Given the description of an element on the screen output the (x, y) to click on. 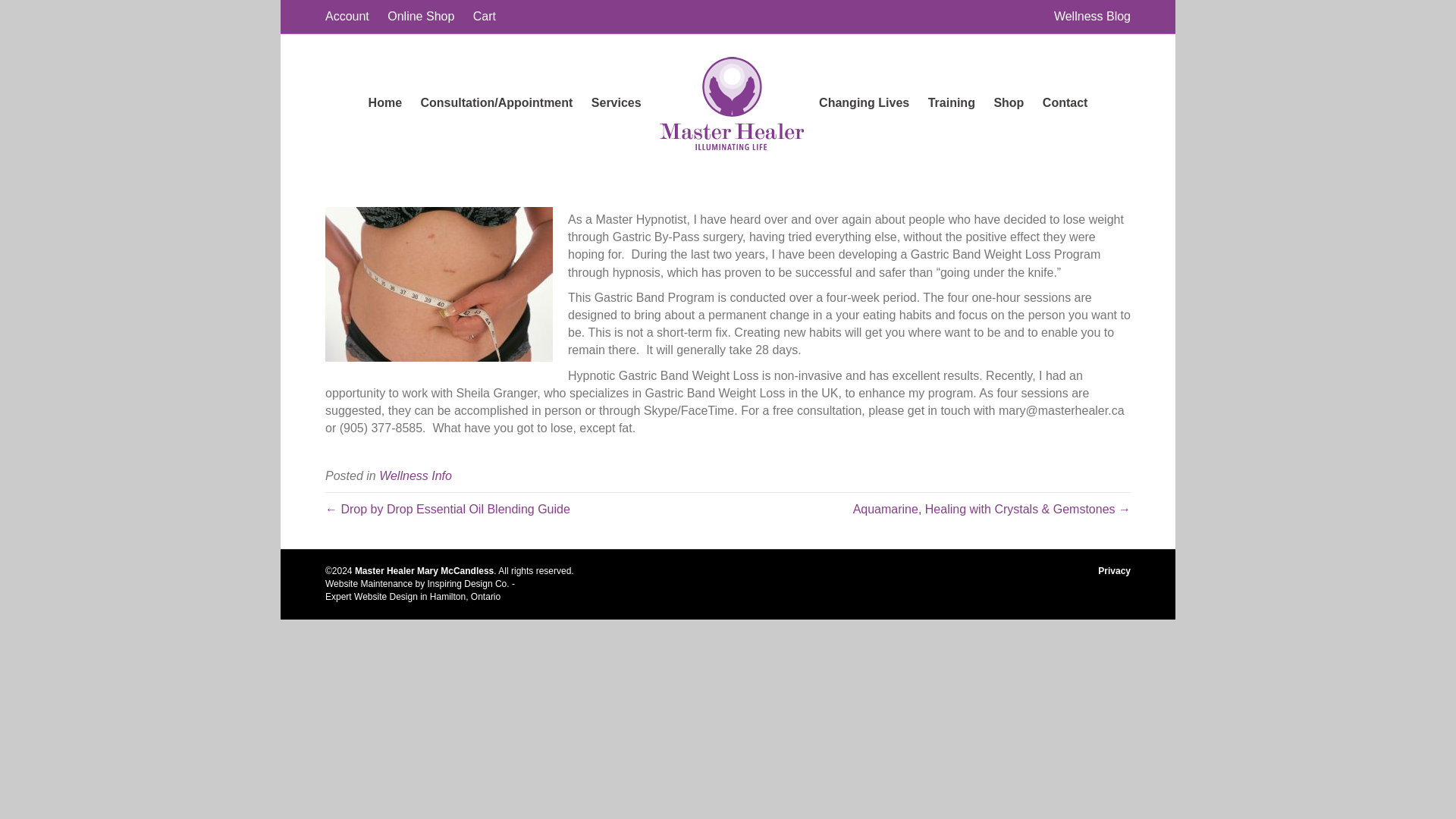
Wellness Info (414, 475)
Wellness Blog (1092, 15)
Changing Lives (863, 102)
Training (951, 102)
Online Shop (420, 16)
Home (385, 102)
Contact (1065, 102)
Shop (1007, 102)
Account (347, 16)
Services (616, 102)
